Given the description of an element on the screen output the (x, y) to click on. 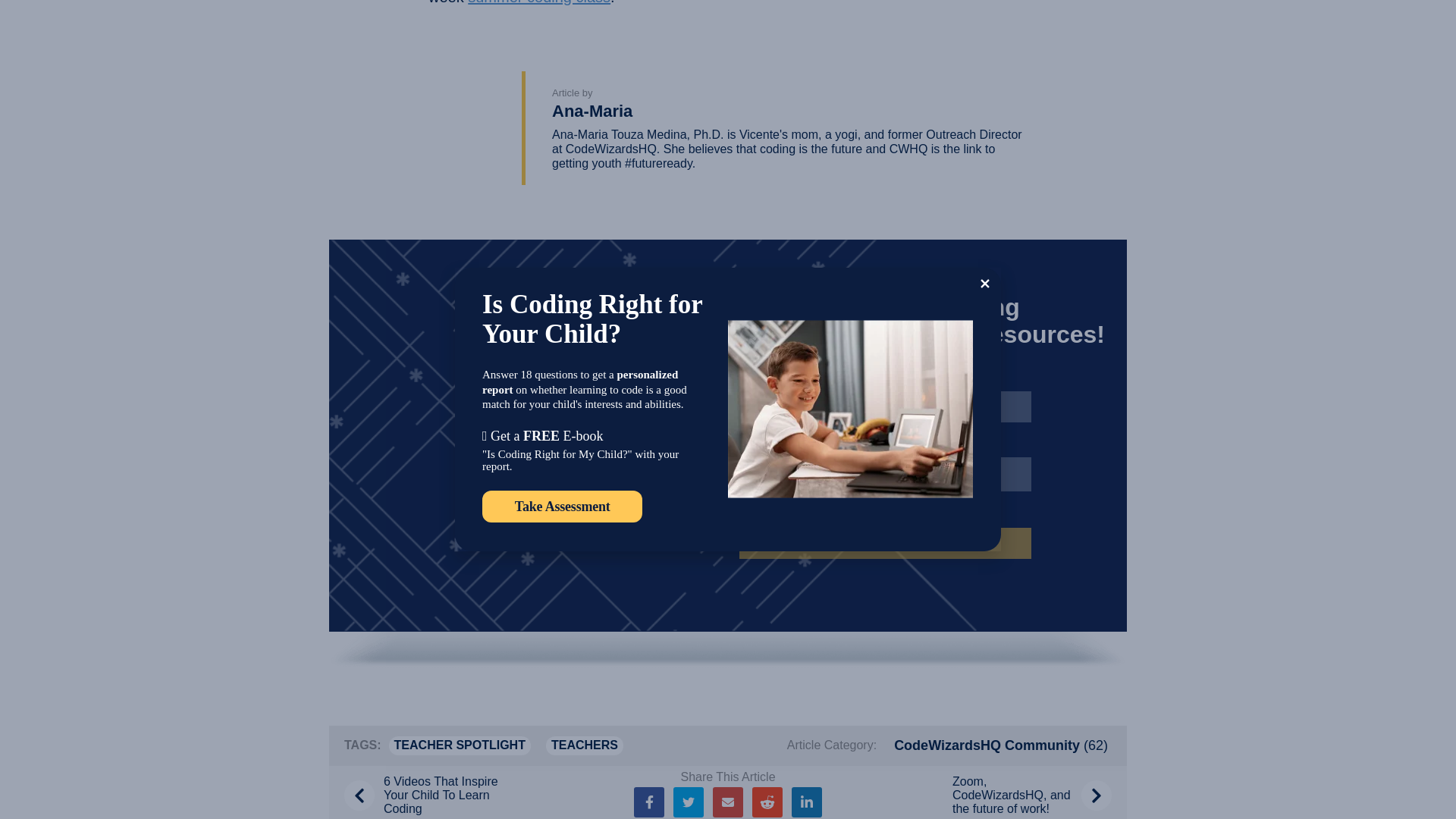
Submit (884, 542)
